Given the description of an element on the screen output the (x, y) to click on. 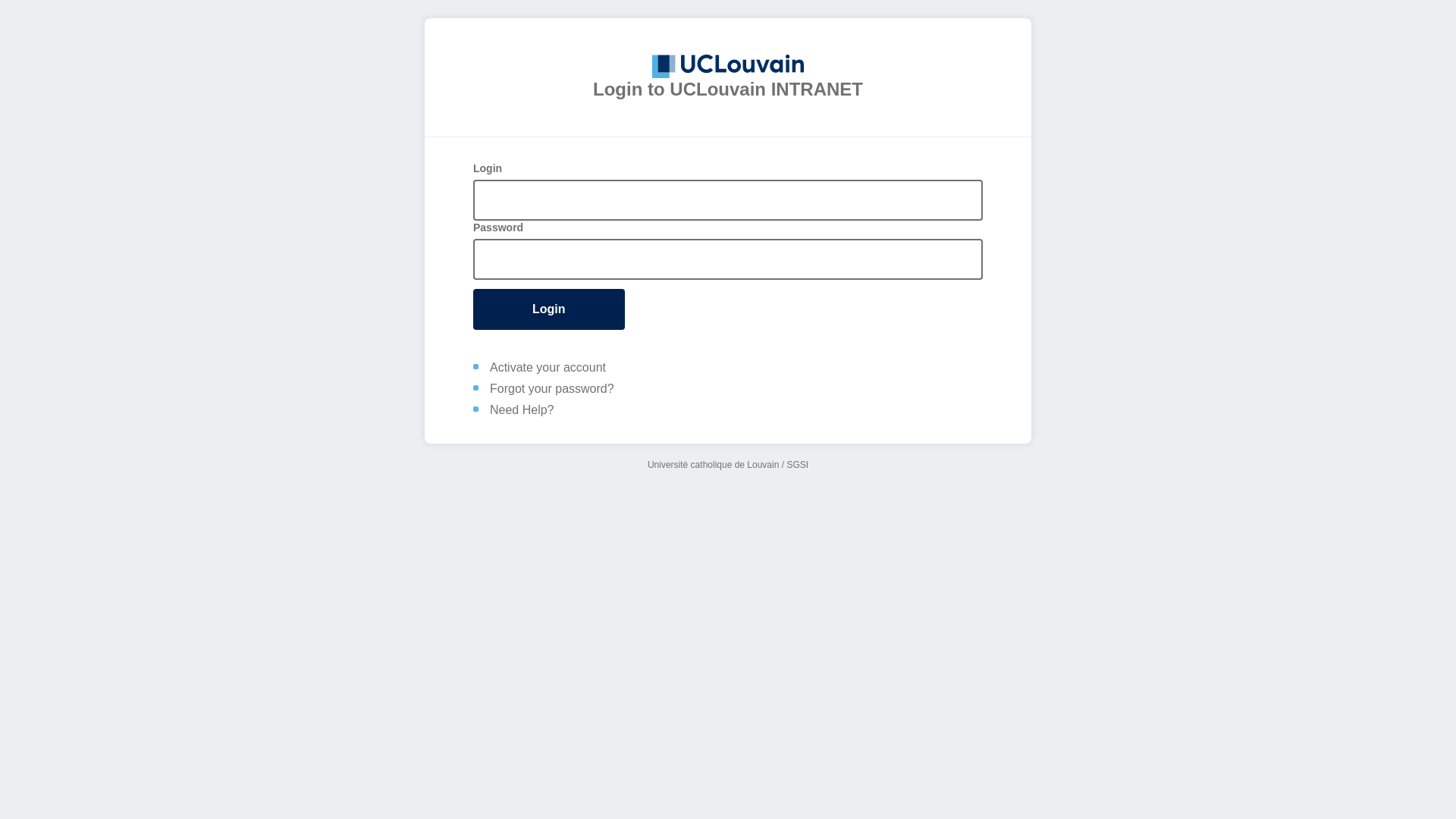
Need Help? Element type: text (521, 409)
Activate your account Element type: text (547, 366)
Forgot your password? Element type: text (551, 388)
Login Element type: text (548, 308)
